Given the description of an element on the screen output the (x, y) to click on. 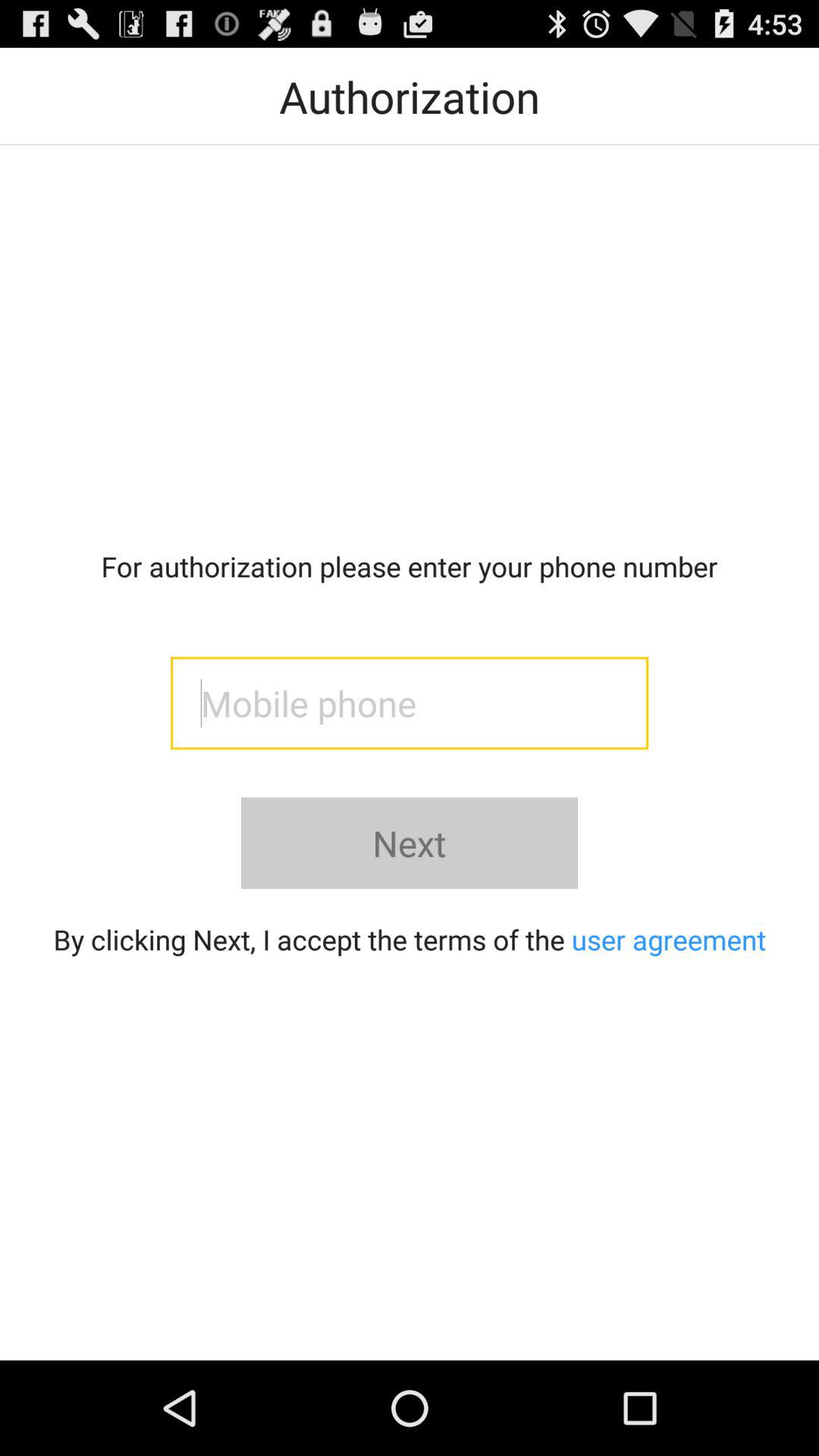
enter phone number (409, 702)
